Given the description of an element on the screen output the (x, y) to click on. 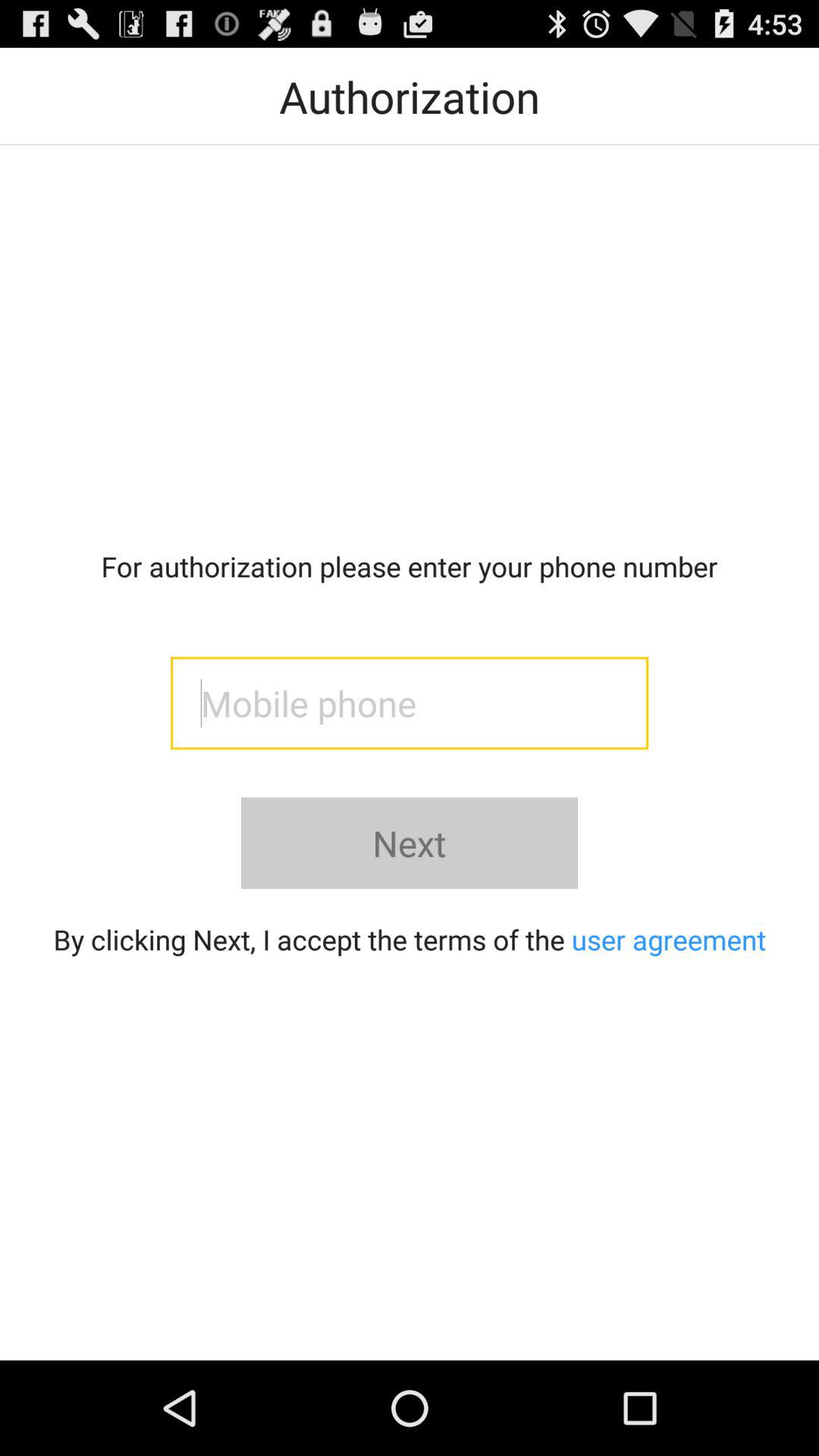
enter phone number (409, 702)
